Given the description of an element on the screen output the (x, y) to click on. 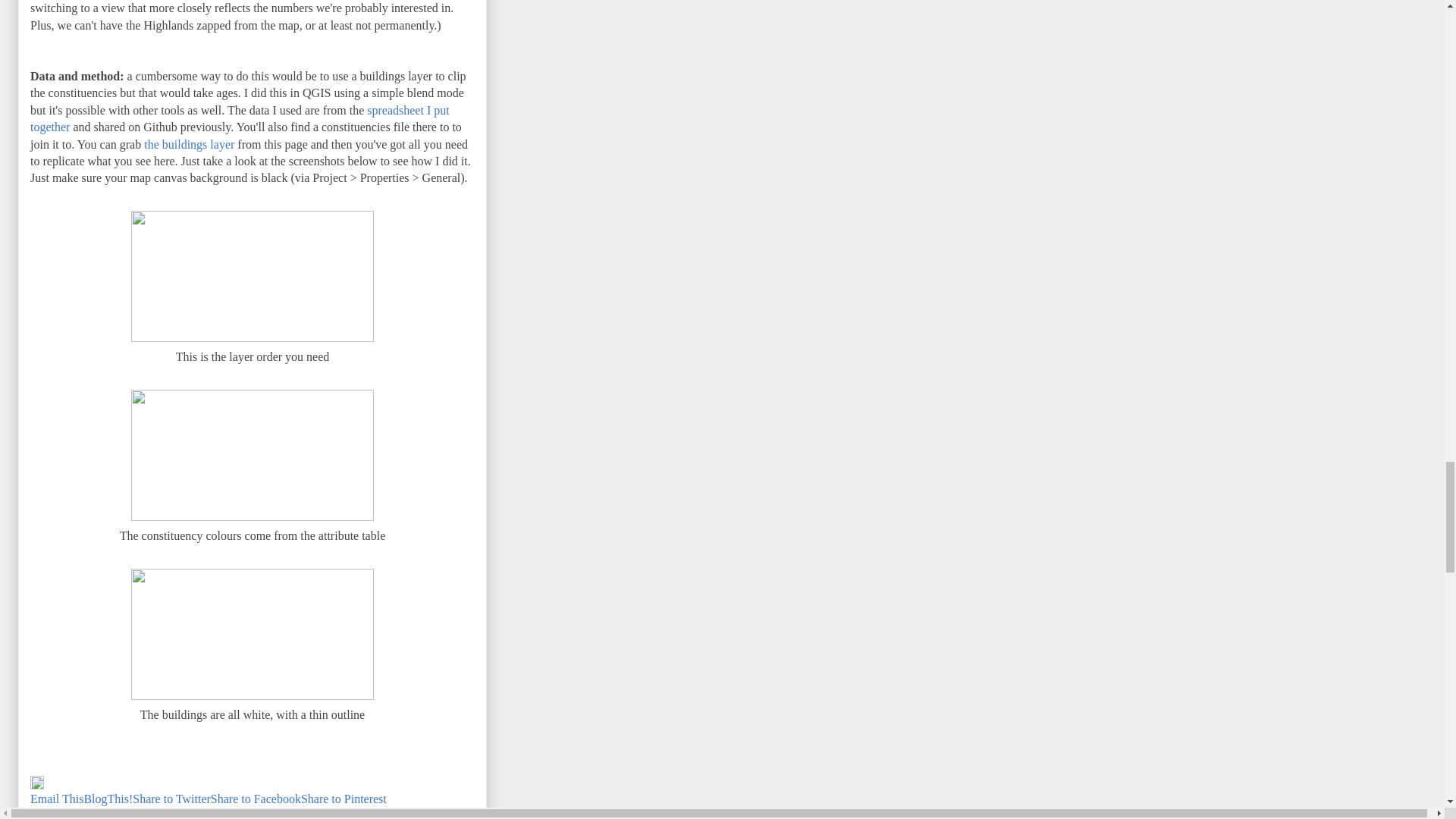
Share to Facebook (256, 798)
conservative (201, 812)
Share to Facebook (256, 798)
cartogram (140, 812)
constituencies (274, 812)
Share to Twitter (171, 798)
Share to Pinterest (344, 798)
the buildings layer (189, 144)
Edit Post (36, 784)
BlogThis! (107, 798)
